Given the description of an element on the screen output the (x, y) to click on. 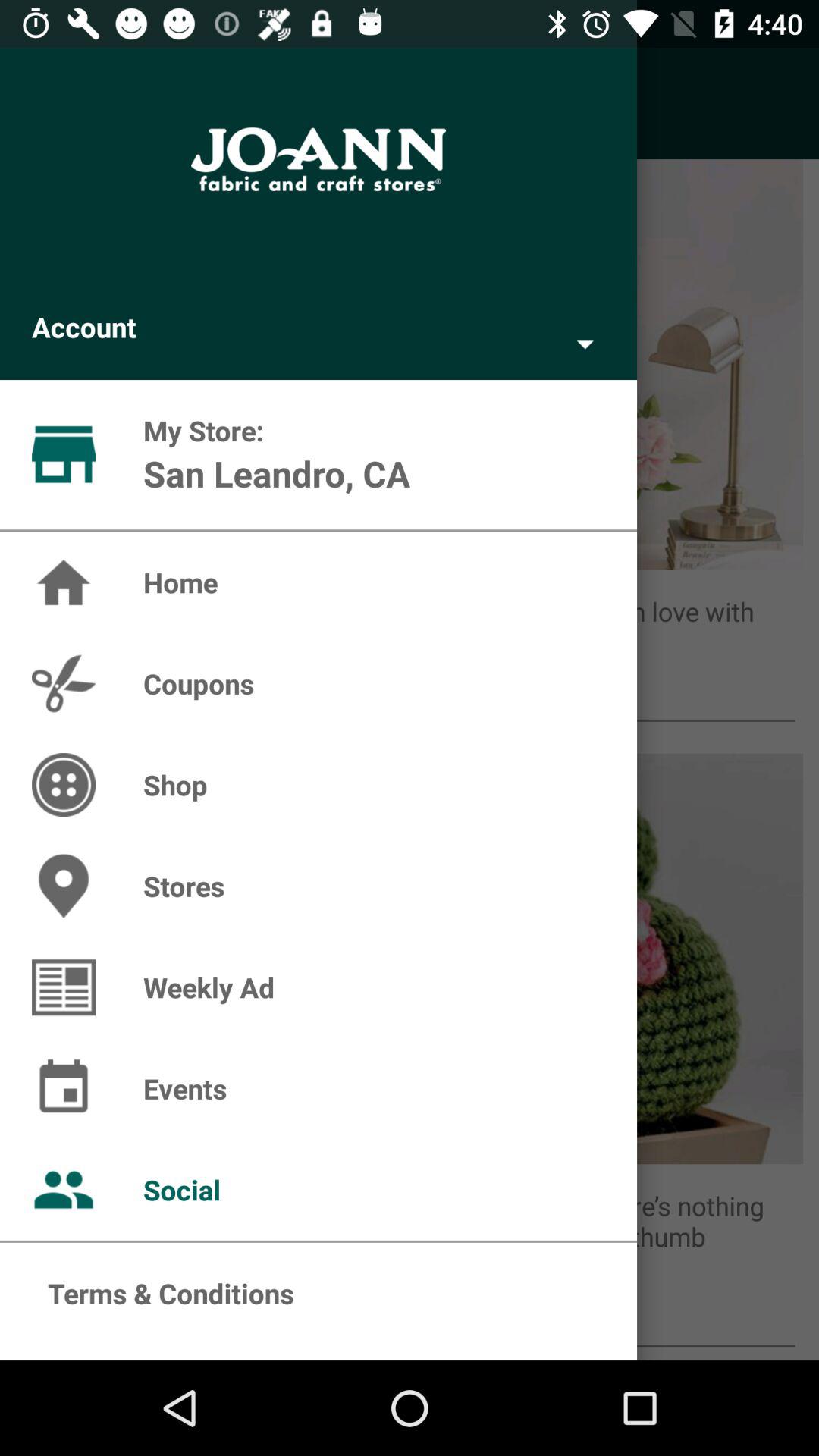
select the icon which is to the left side of social option (63, 1189)
select the title of the page (317, 159)
click on scissor icon (63, 684)
select the icon which is below the weekly ad (63, 987)
